Given the description of an element on the screen output the (x, y) to click on. 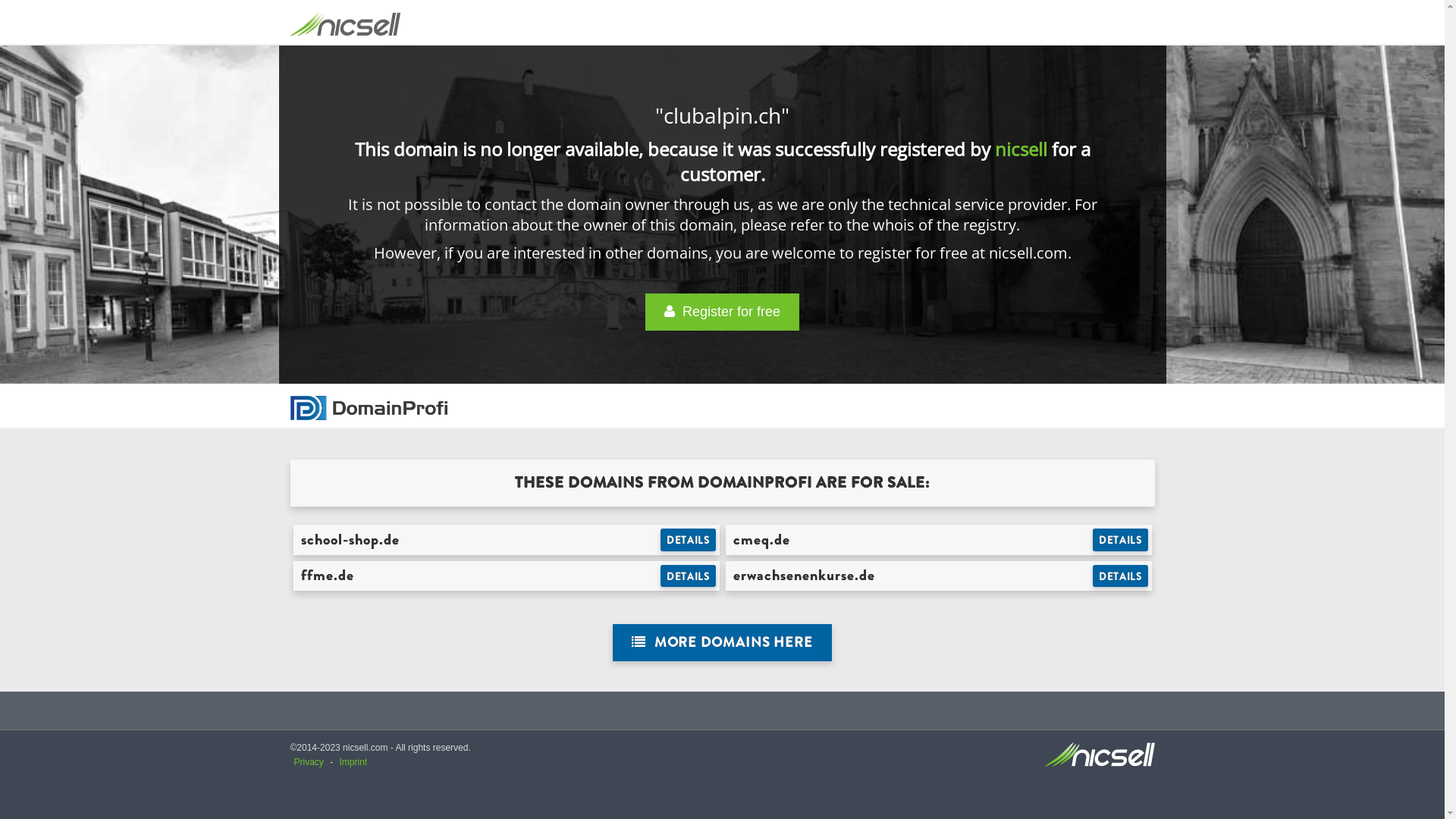
Privacy Element type: text (308, 761)
  MORE DOMAINS HERE Element type: text (721, 642)
nicsell Element type: text (1020, 148)
DETAILS Element type: text (1120, 539)
DETAILS Element type: text (1120, 575)
  Register for free Element type: text (722, 311)
DETAILS Element type: text (687, 575)
DETAILS Element type: text (687, 539)
Imprint Element type: text (353, 761)
